Given the description of an element on the screen output the (x, y) to click on. 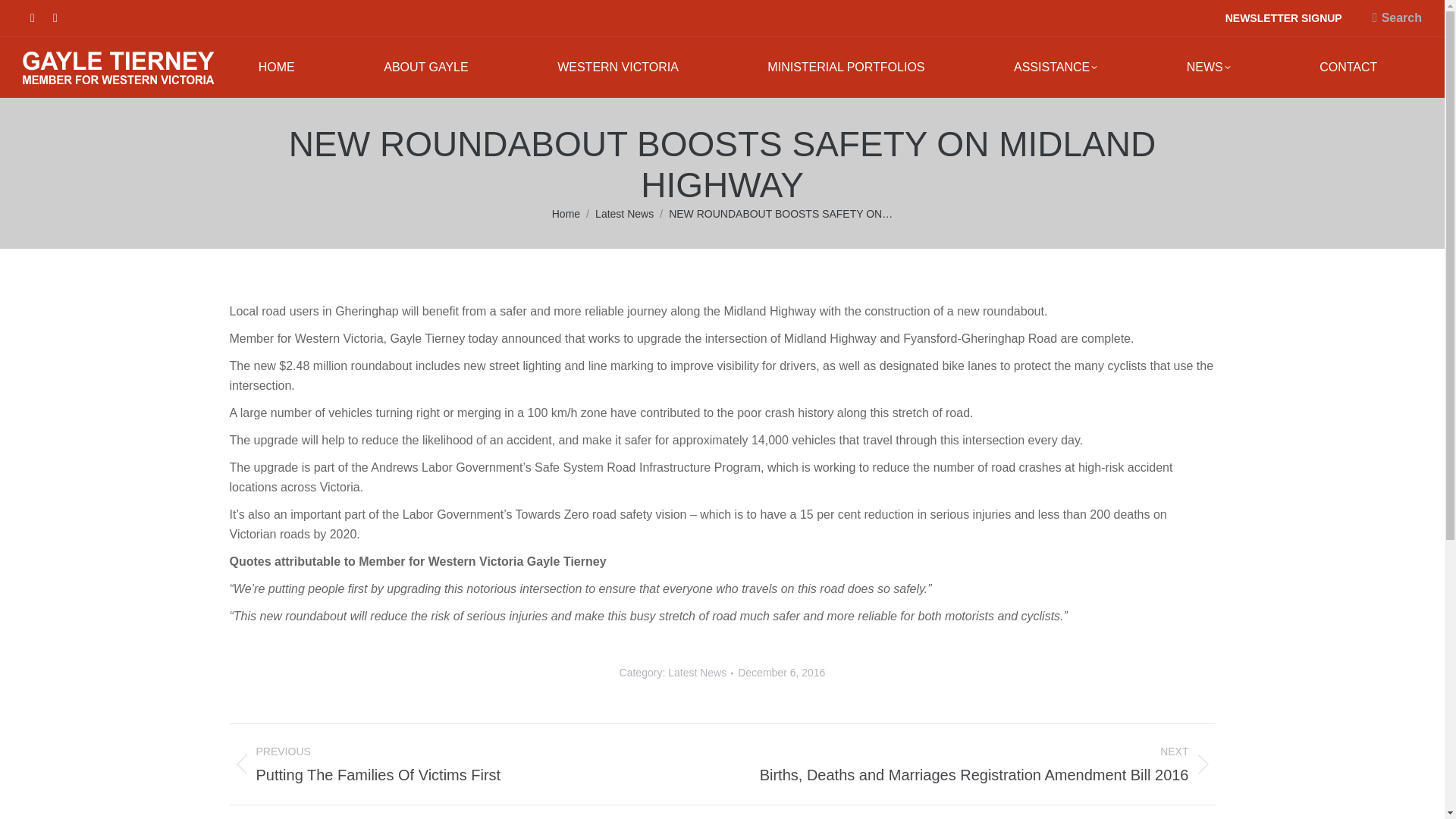
Instagram page opens in new window (55, 17)
CONTACT (1348, 67)
Search (1397, 17)
WESTERN VICTORIA (617, 67)
MINISTERIAL PORTFOLIOS (845, 67)
ABOUT GAYLE (425, 67)
Instagram page opens in new window (55, 17)
Go! (25, 17)
Home (565, 214)
Facebook page opens in new window (32, 17)
3:56 pm (781, 672)
ASSISTANCE (1055, 67)
Latest News (624, 214)
NEWS (1208, 67)
Facebook page opens in new window (32, 17)
